Given the description of an element on the screen output the (x, y) to click on. 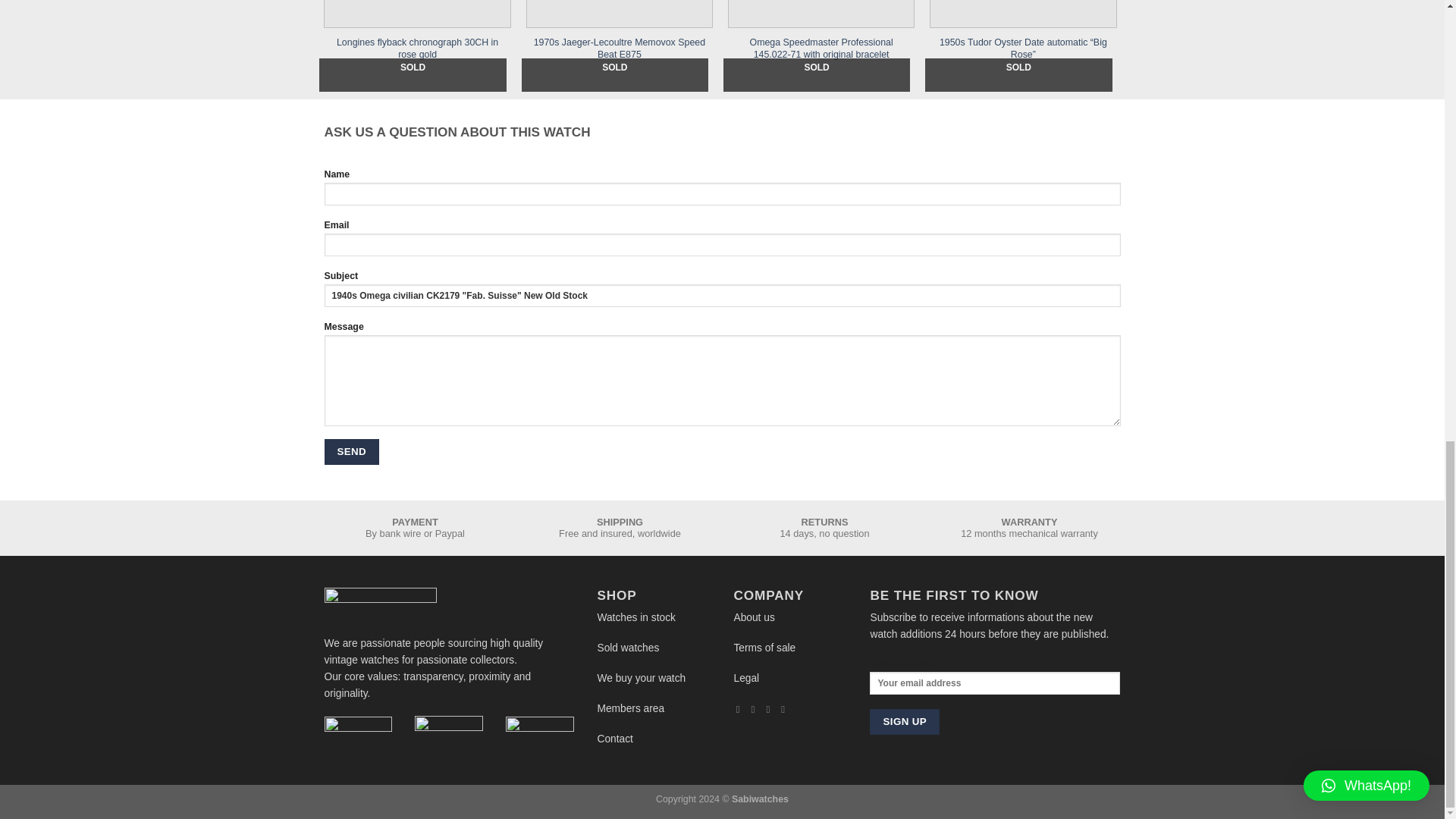
Send (352, 451)
1940s Omega civilian CK2179 "Fab. Suisse" New Old Stock (722, 295)
Sign up (904, 721)
